Given the description of an element on the screen output the (x, y) to click on. 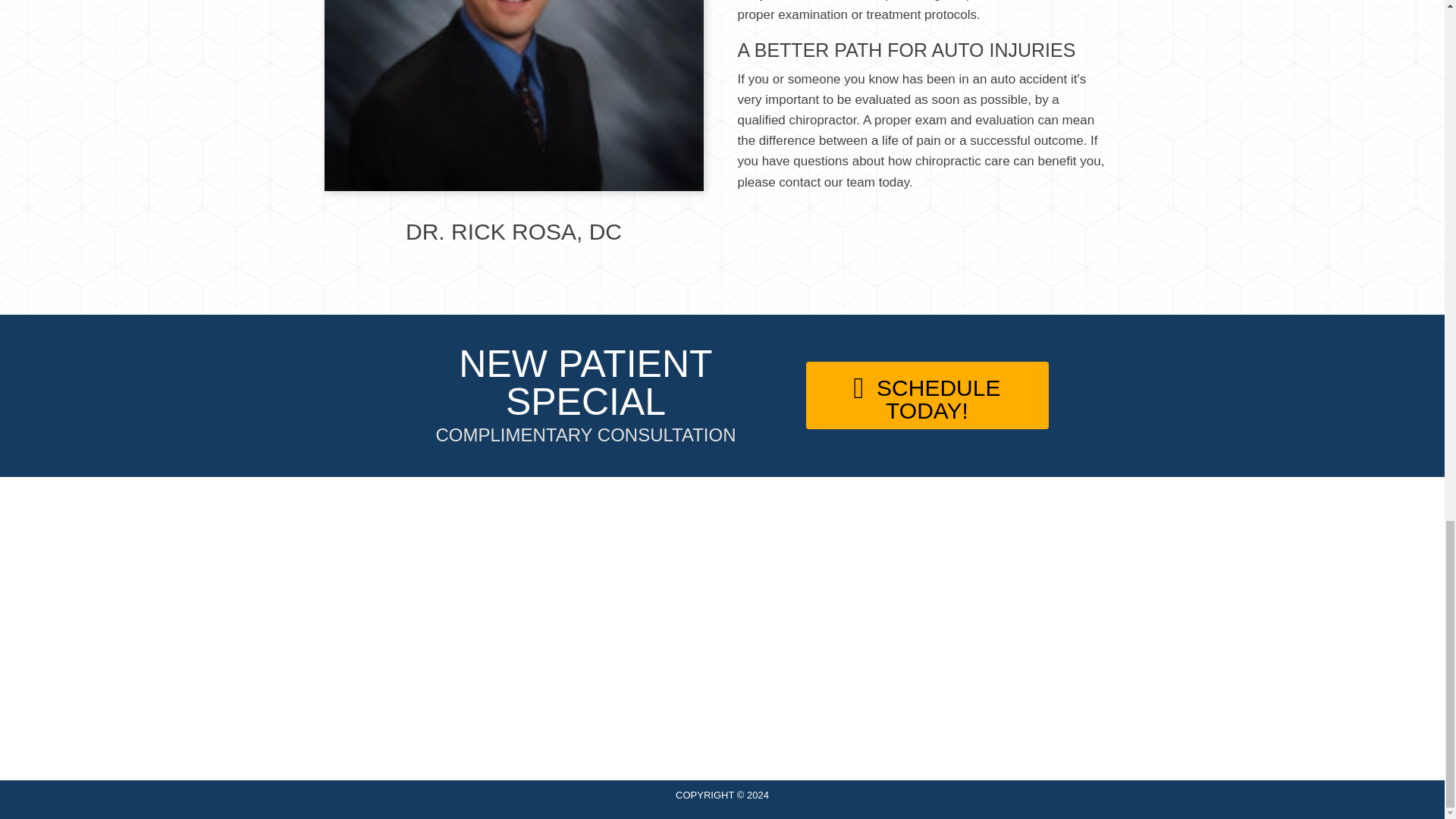
SCHEDULE TODAY! (926, 395)
